Given the description of an element on the screen output the (x, y) to click on. 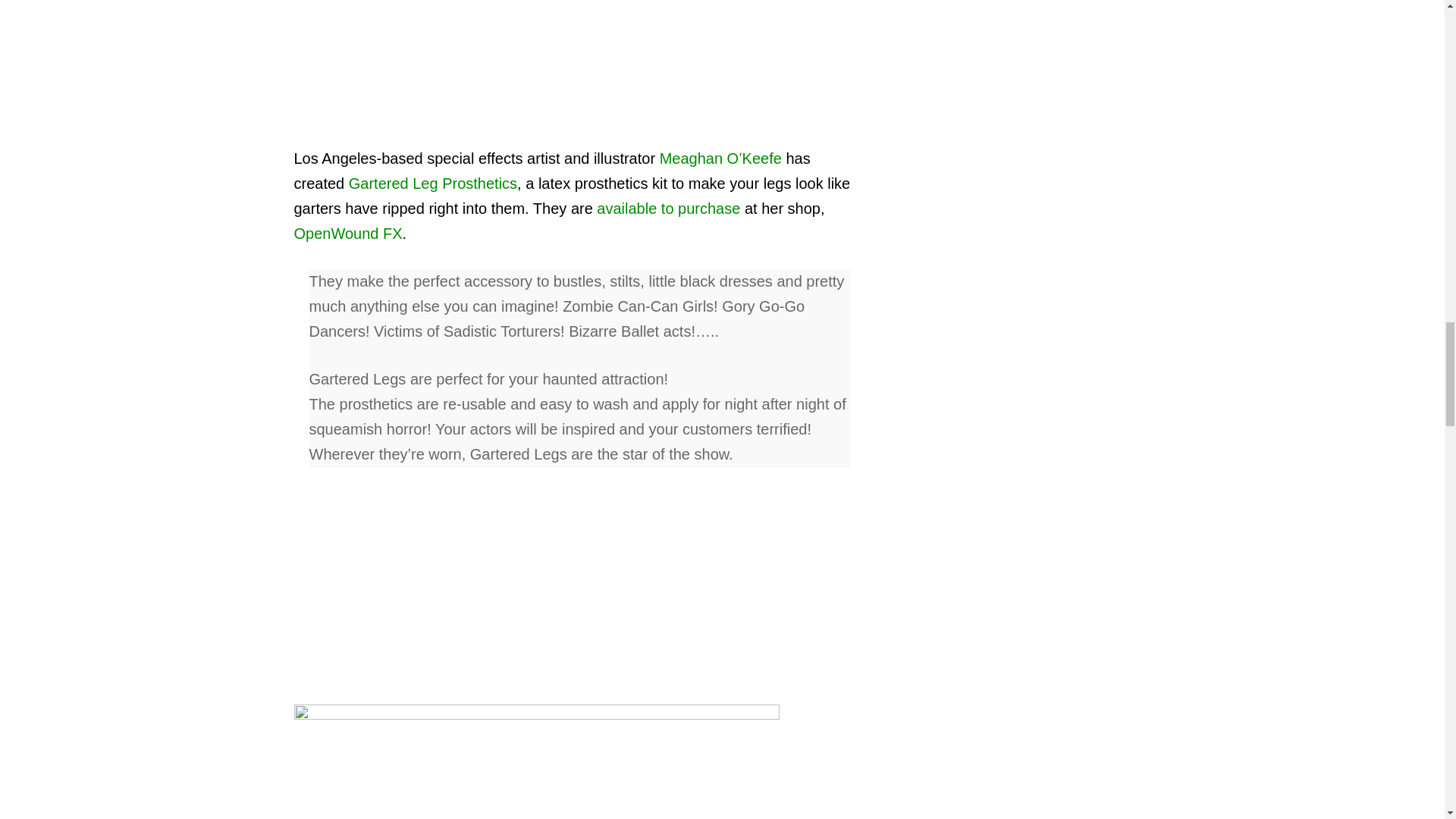
Gartered Leg Prosthetics (432, 183)
Bloodied Leg Prosthetics (536, 760)
available to purchase (667, 208)
OpenWound FX (348, 233)
